Given the description of an element on the screen output the (x, y) to click on. 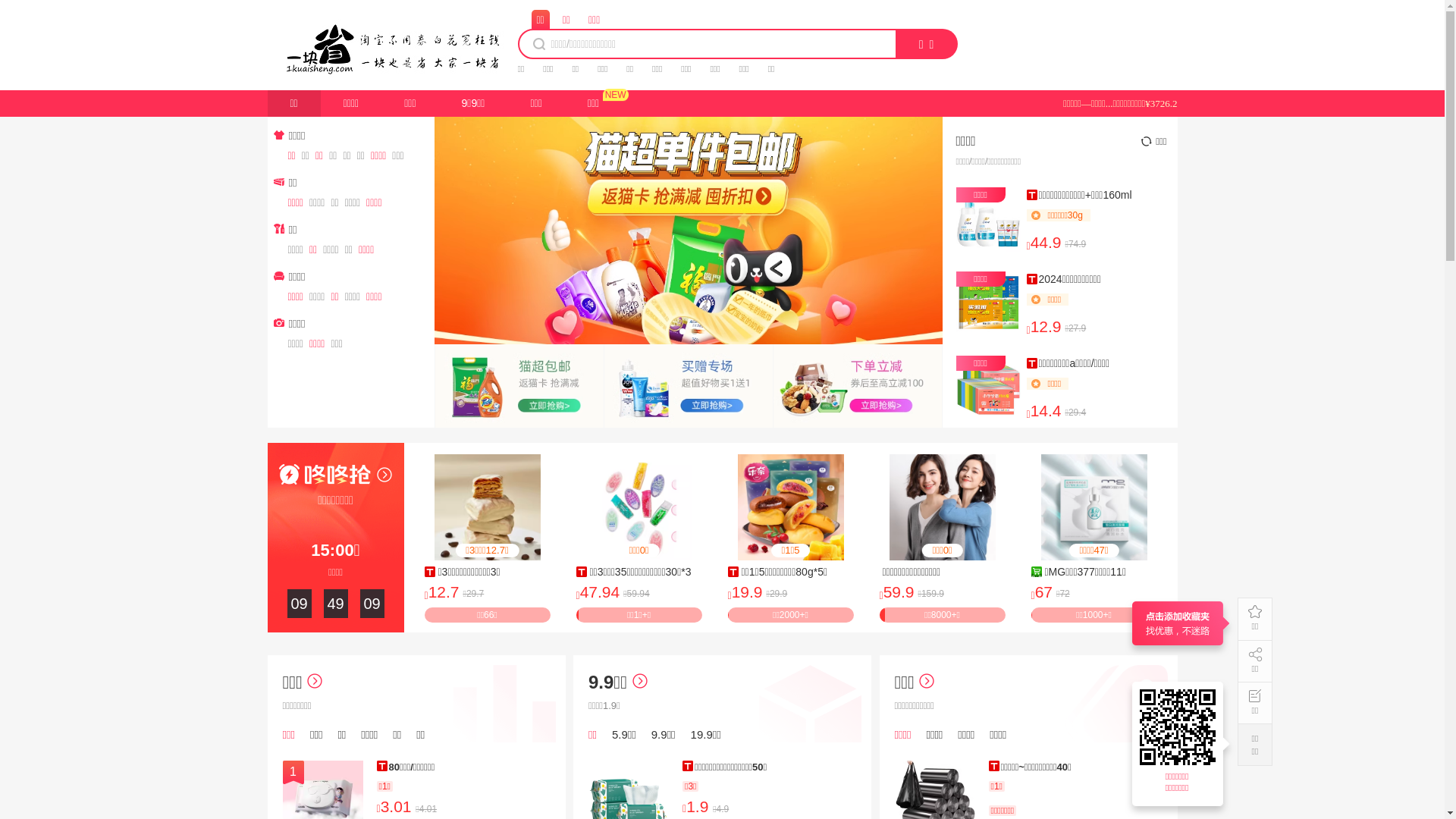
https://www.1kuaisheng.com Element type: hover (1179, 727)
